Given the description of an element on the screen output the (x, y) to click on. 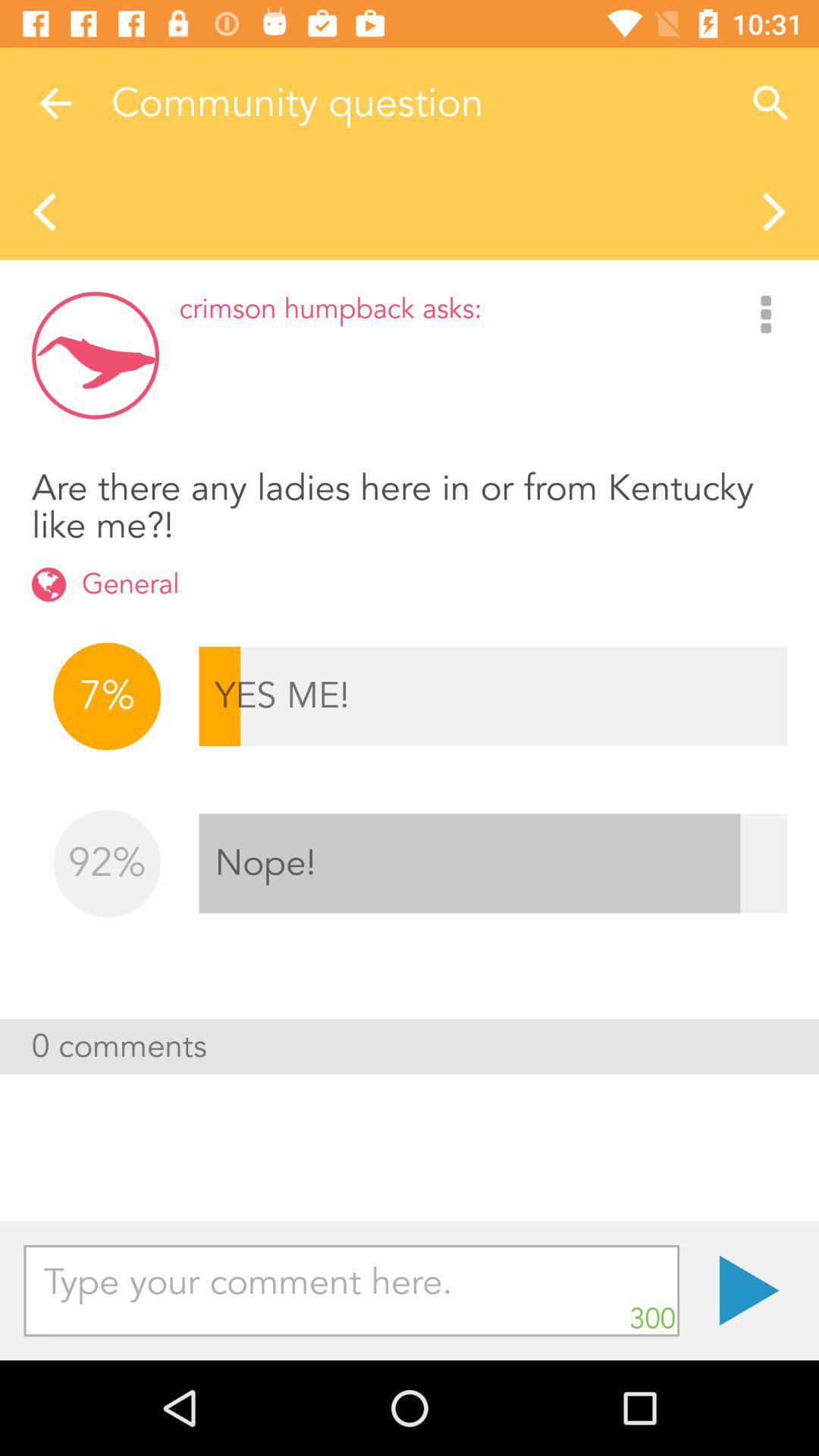
comment box (351, 1290)
